Given the description of an element on the screen output the (x, y) to click on. 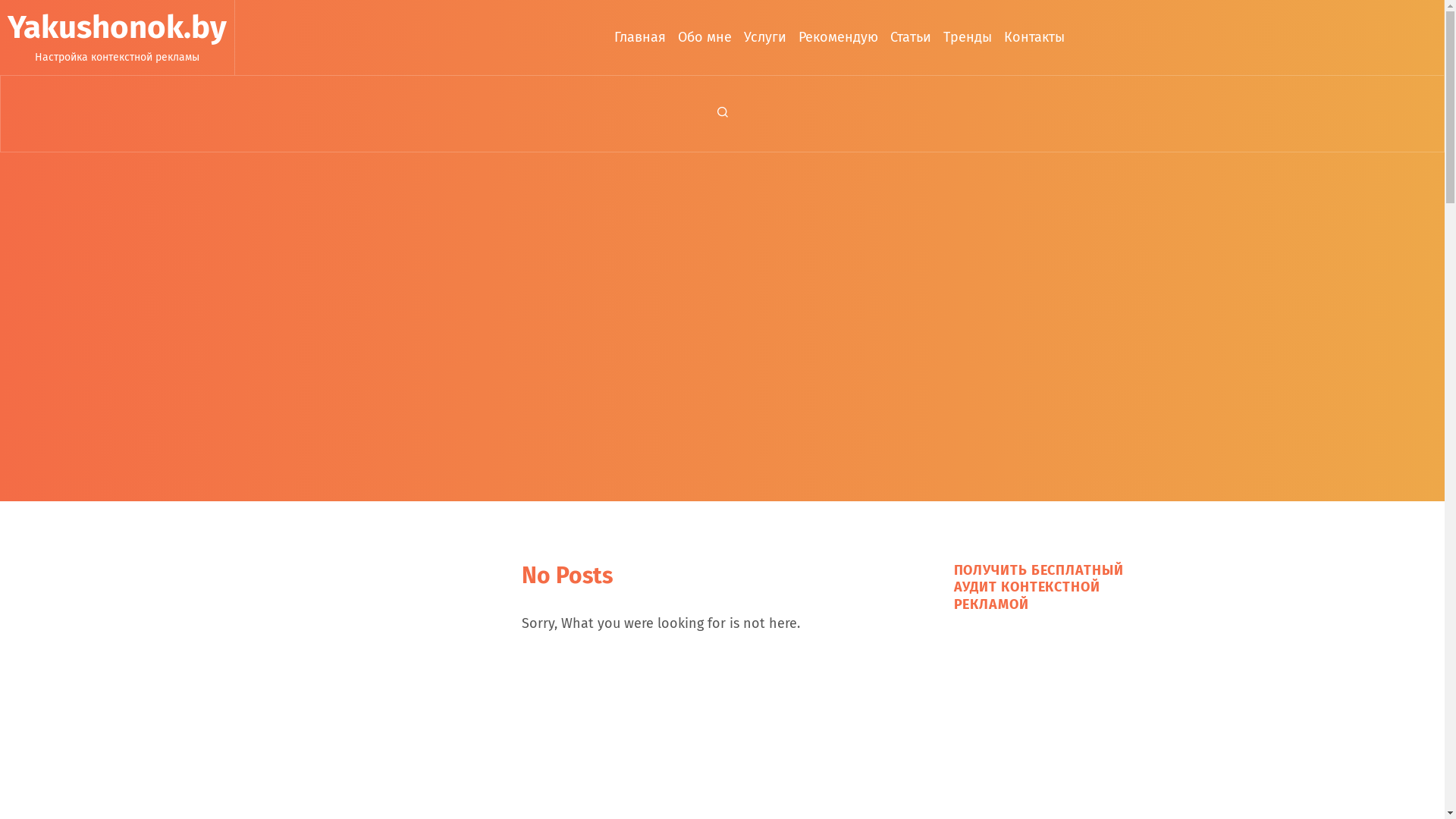
Yakushonok.by Element type: text (116, 27)
Search Element type: text (722, 113)
